Given the description of an element on the screen output the (x, y) to click on. 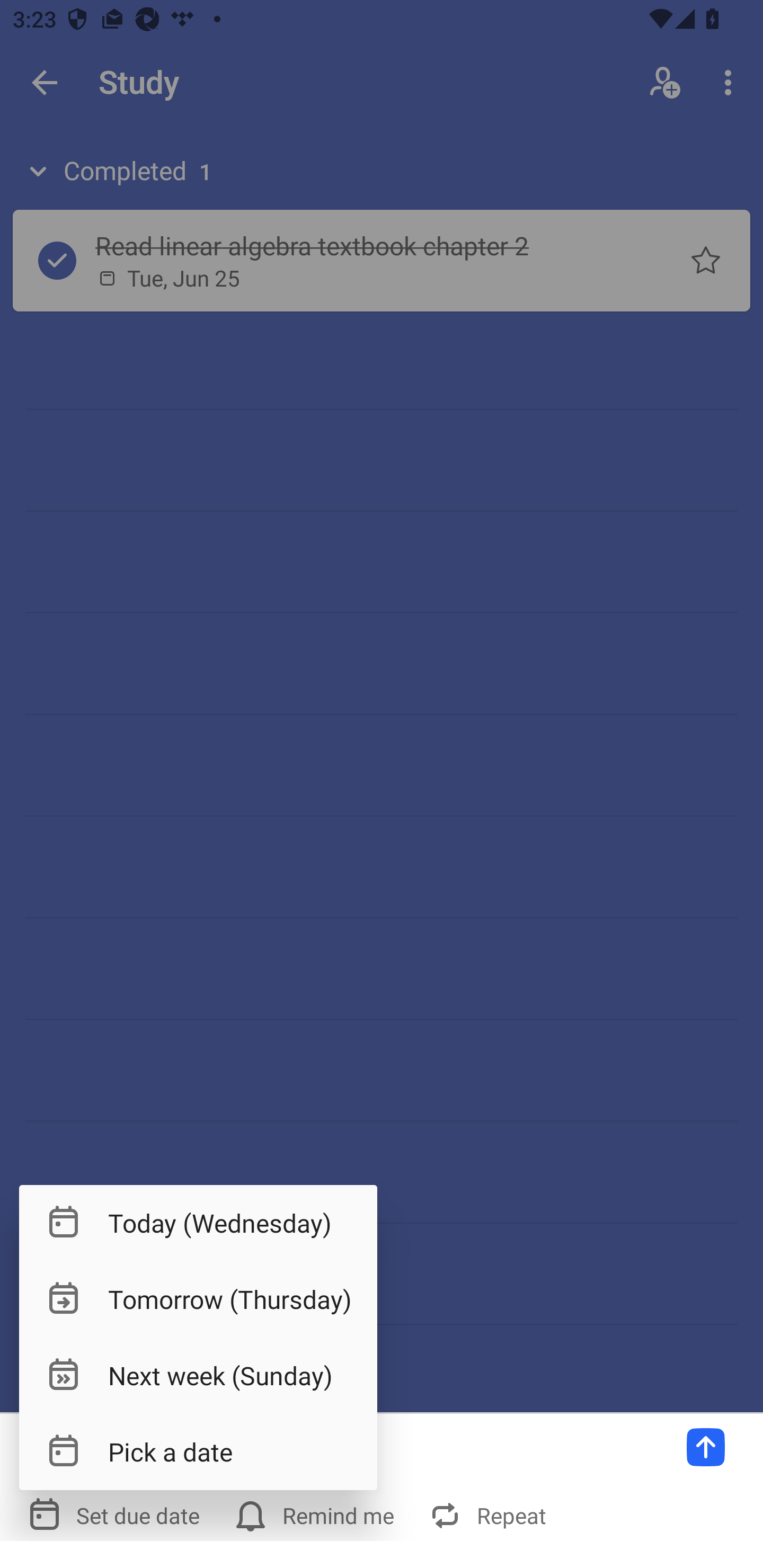
Pick a date4 in 4 Pick a date (197, 1451)
